Given the description of an element on the screen output the (x, y) to click on. 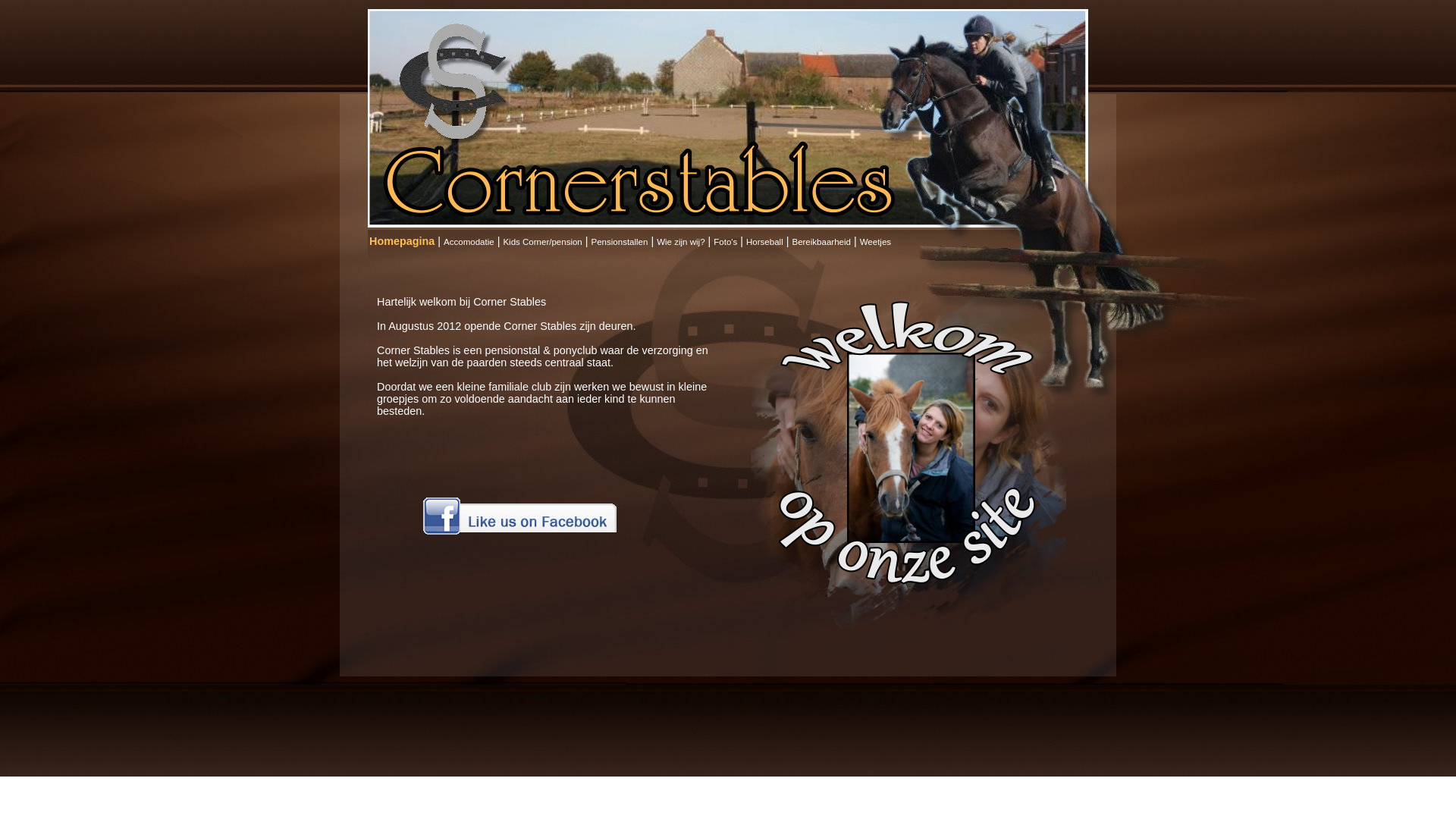
Horseball Element type: text (764, 241)
Accomodatie Element type: text (468, 241)
Foto's Element type: text (725, 241)
Pensionstallen Element type: text (619, 241)
Bereikbaarheid Element type: text (820, 241)
Kids Corner/pension Element type: text (541, 241)
Weetjes Element type: text (875, 241)
Wie zijn wij? Element type: text (680, 241)
